Given the description of an element on the screen output the (x, y) to click on. 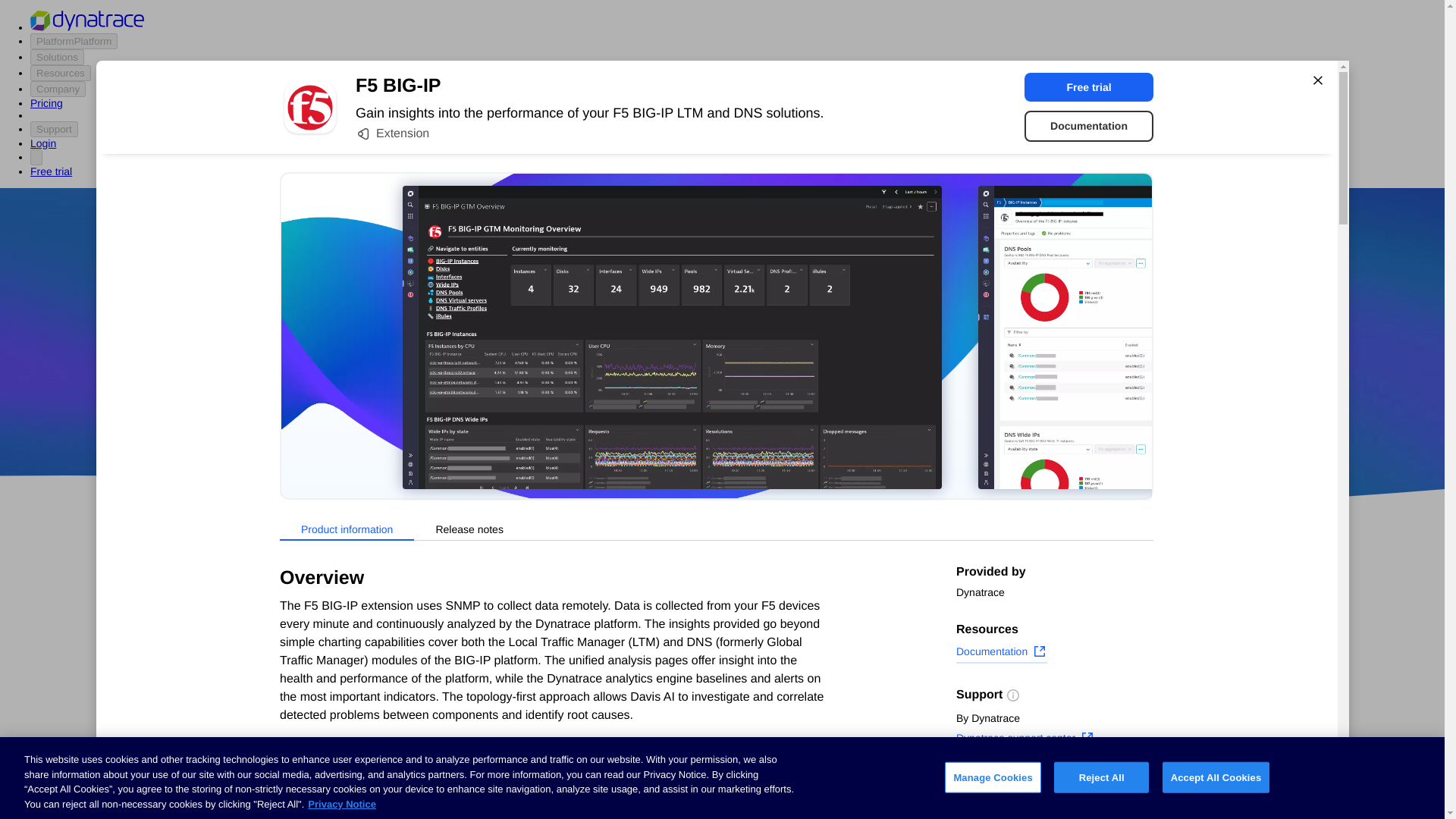
AWS (637, 418)
Azure (681, 418)
Open source (903, 418)
Subscribe to new releases (1054, 782)
360performance (840, 375)
Dynatrace support center (1025, 740)
Advanced SSL Certificate Check for Dynatrace (606, 731)
 certificate ssl synthetic test (607, 793)
360performance (840, 375)
Free trial (1089, 86)
Copy page link (1003, 806)
DevOps (829, 418)
Documentation (1001, 653)
Documentation (1089, 125)
Google Cloud (751, 418)
